Given the description of an element on the screen output the (x, y) to click on. 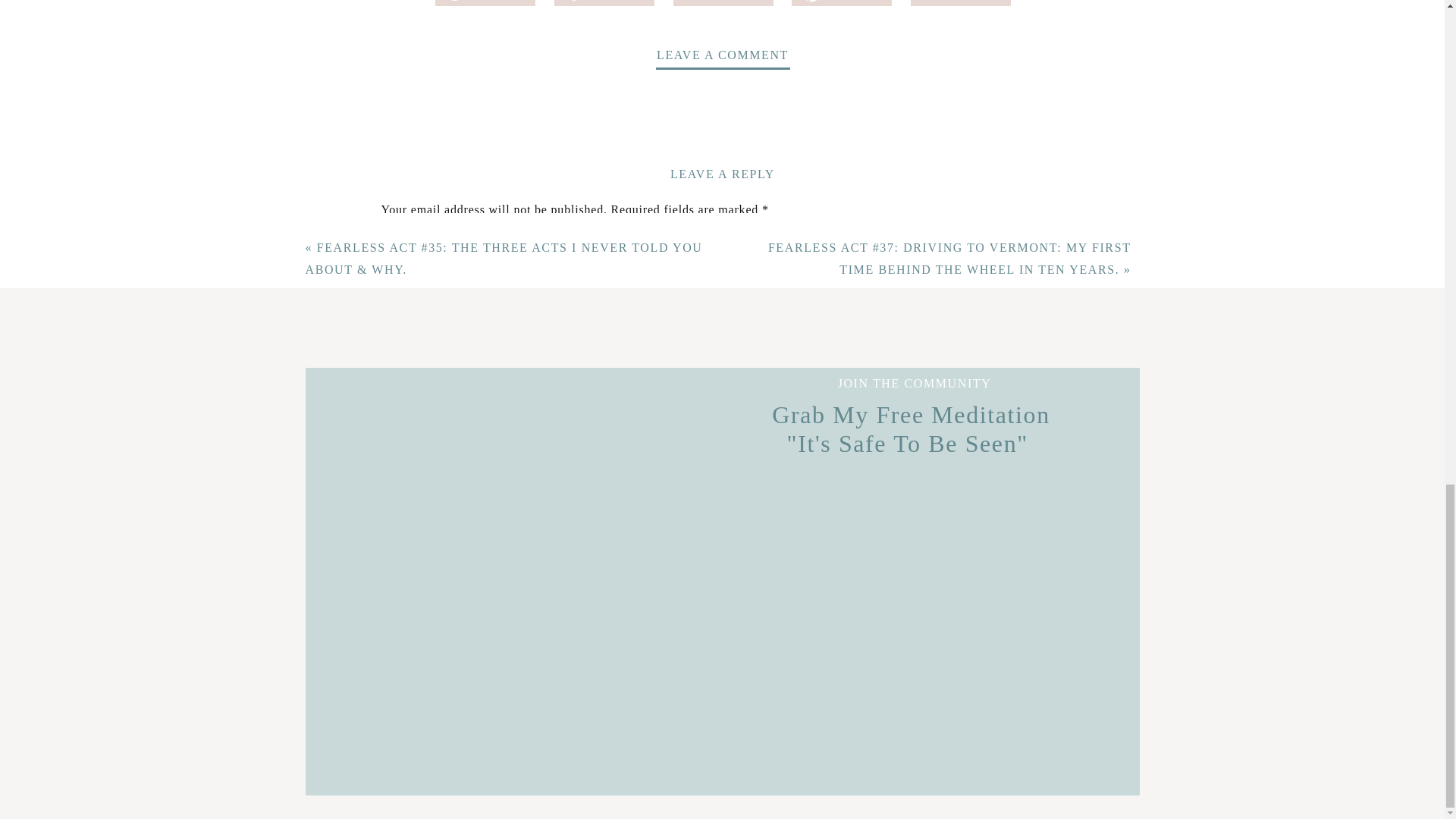
Post Comment (424, 687)
yes (388, 617)
Post Comment (424, 687)
